Given the description of an element on the screen output the (x, y) to click on. 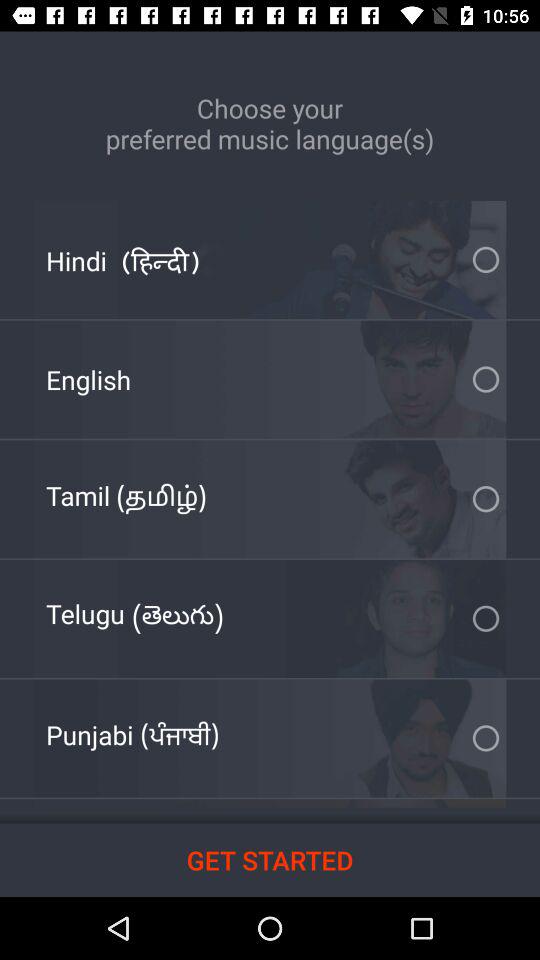
jump until get started item (270, 859)
